Given the description of an element on the screen output the (x, y) to click on. 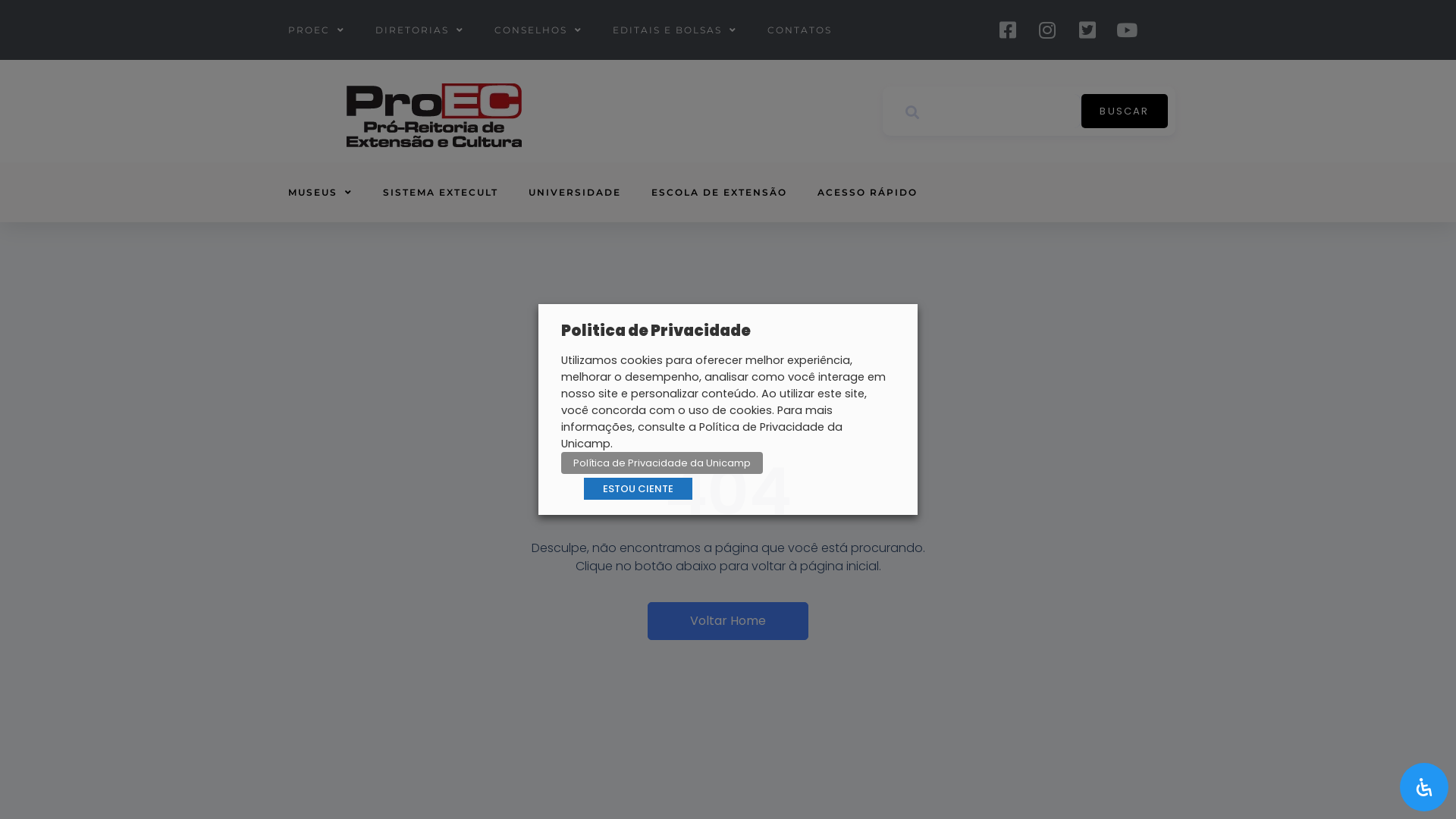
MUSEUS Element type: text (320, 192)
EDITAIS E BOLSAS Element type: text (674, 29)
Acessibilidade Element type: hover (1423, 786)
ESTOU CIENTE Element type: text (637, 488)
CONTATOS Element type: text (799, 29)
PROEC Element type: text (316, 29)
CONSELHOS Element type: text (538, 29)
DIRETORIAS Element type: text (419, 29)
UNIVERSIDADE Element type: text (574, 192)
Small2 Element type: hover (433, 115)
BUSCAR Element type: text (1124, 111)
Voltar Home Element type: text (727, 621)
SISTEMA EXTECULT Element type: text (440, 192)
